Given the description of an element on the screen output the (x, y) to click on. 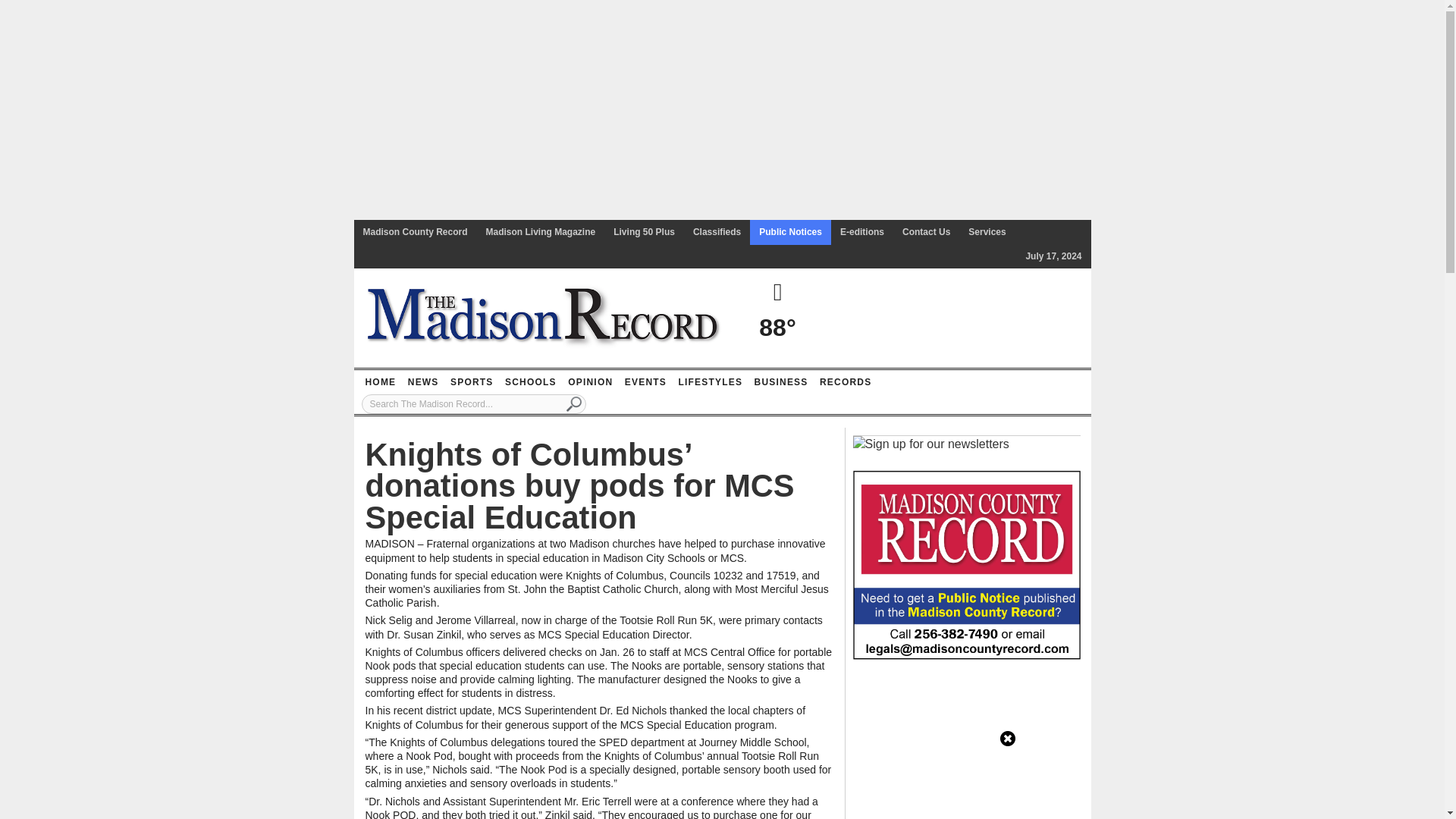
SCHOOLS (530, 381)
BUSINESS (781, 381)
Contact Us (926, 232)
Sign up for our newsletters (930, 443)
Get Legals or Public Notices Published (965, 563)
Go (574, 403)
HOME (379, 381)
E-editions (862, 232)
Living 50 Plus (644, 232)
LIFESTYLES (709, 381)
Services (986, 232)
Madison County Record (414, 232)
Go (574, 403)
Search The Madison Record... (473, 403)
